Given the description of an element on the screen output the (x, y) to click on. 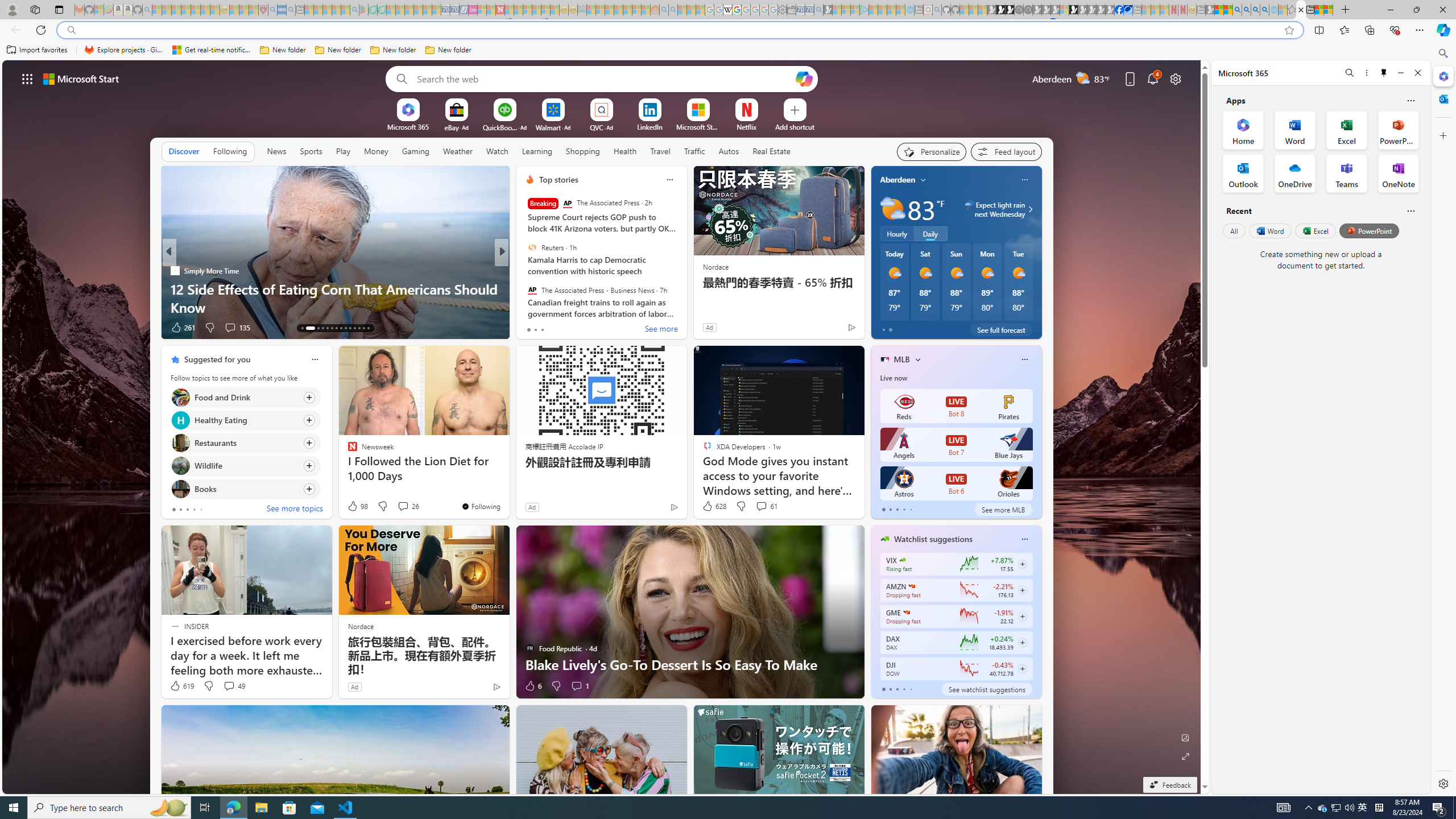
Class: follow-button  m (1021, 668)
All (1233, 230)
INSIDER (524, 270)
Easy pasta dinner trick is so yummy (684, 307)
